Given the description of an element on the screen output the (x, y) to click on. 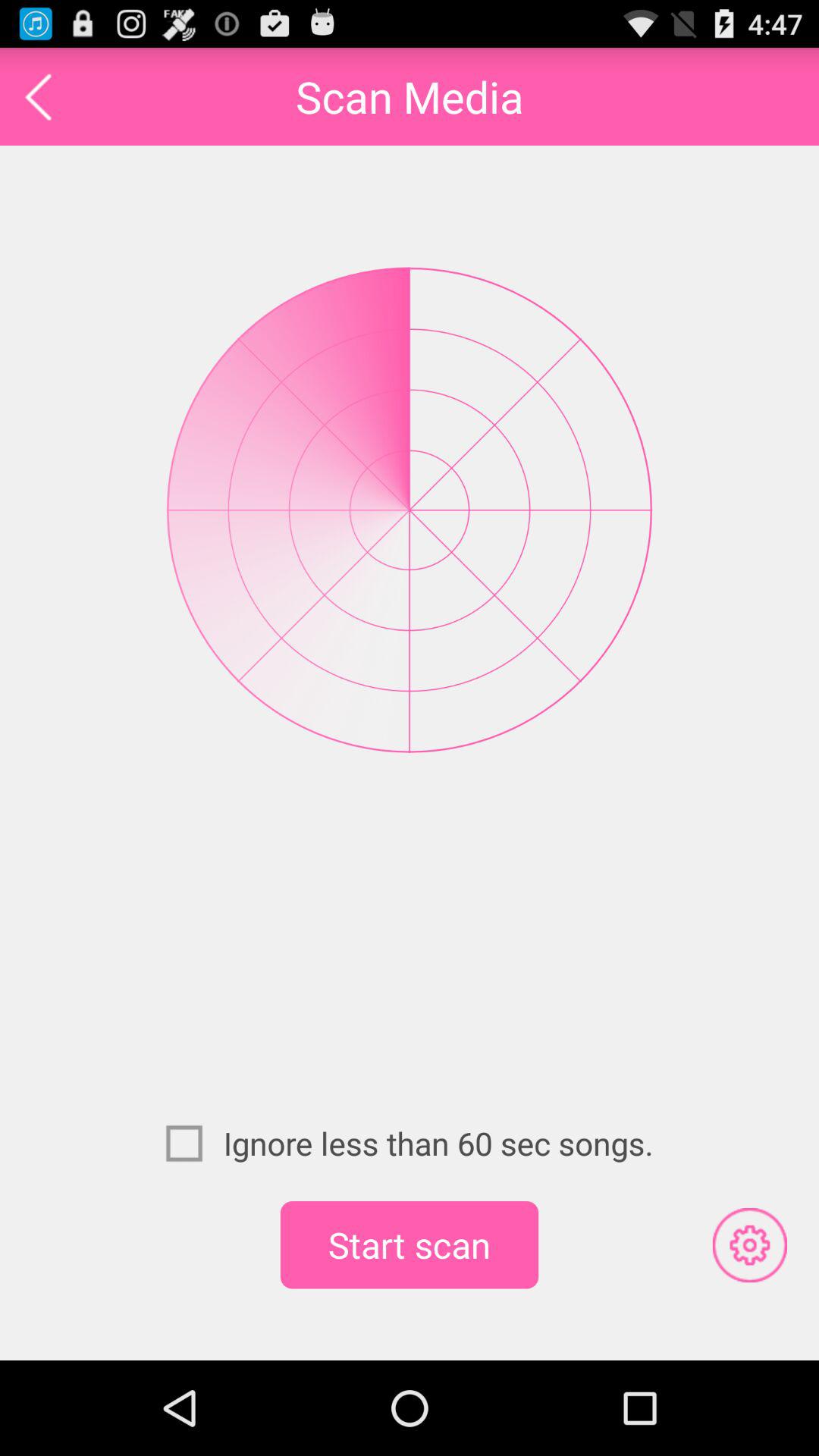
turn off the item at the bottom left corner (193, 1142)
